Given the description of an element on the screen output the (x, y) to click on. 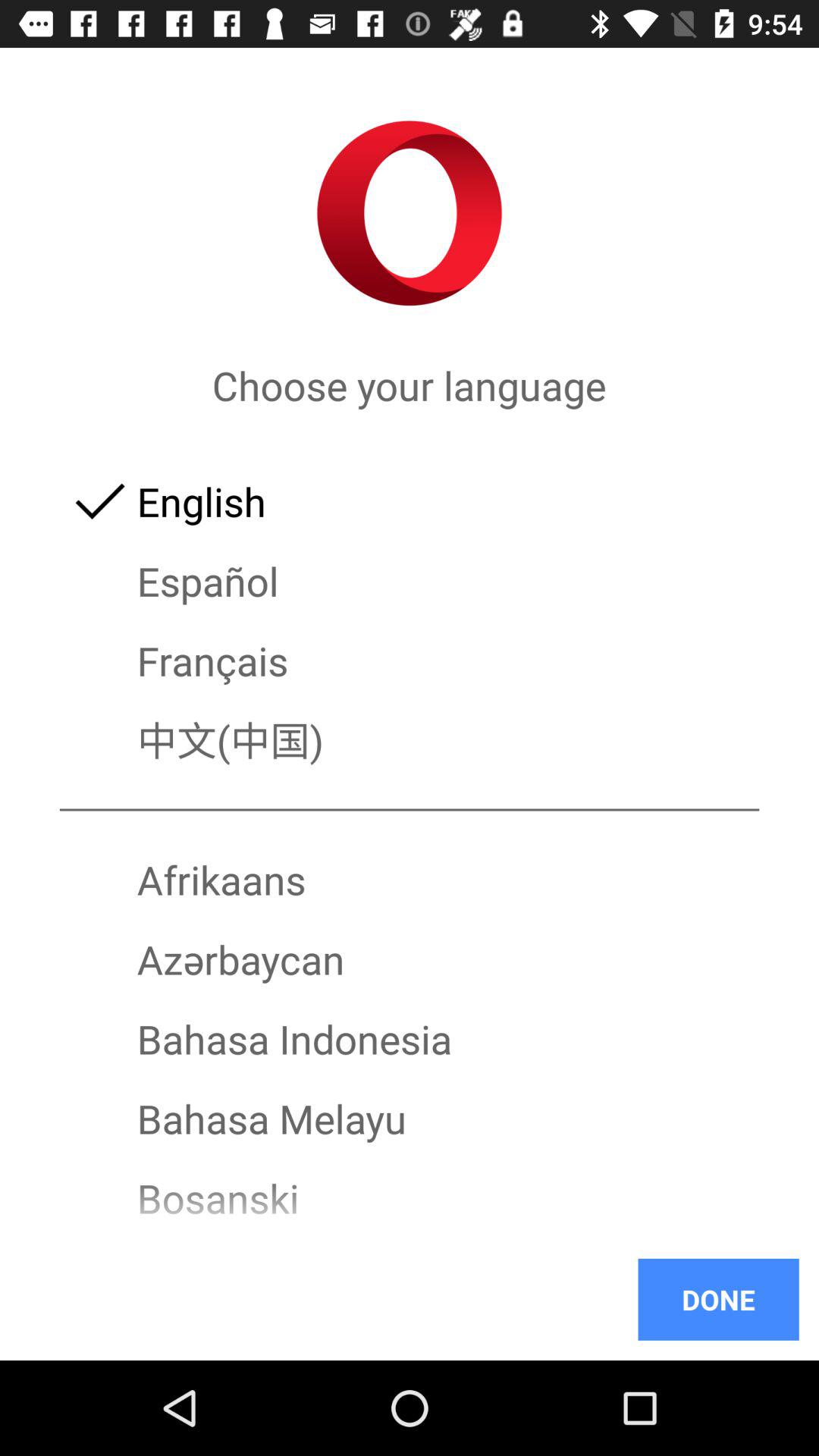
turn off the bahasa melayu item (409, 1118)
